Given the description of an element on the screen output the (x, y) to click on. 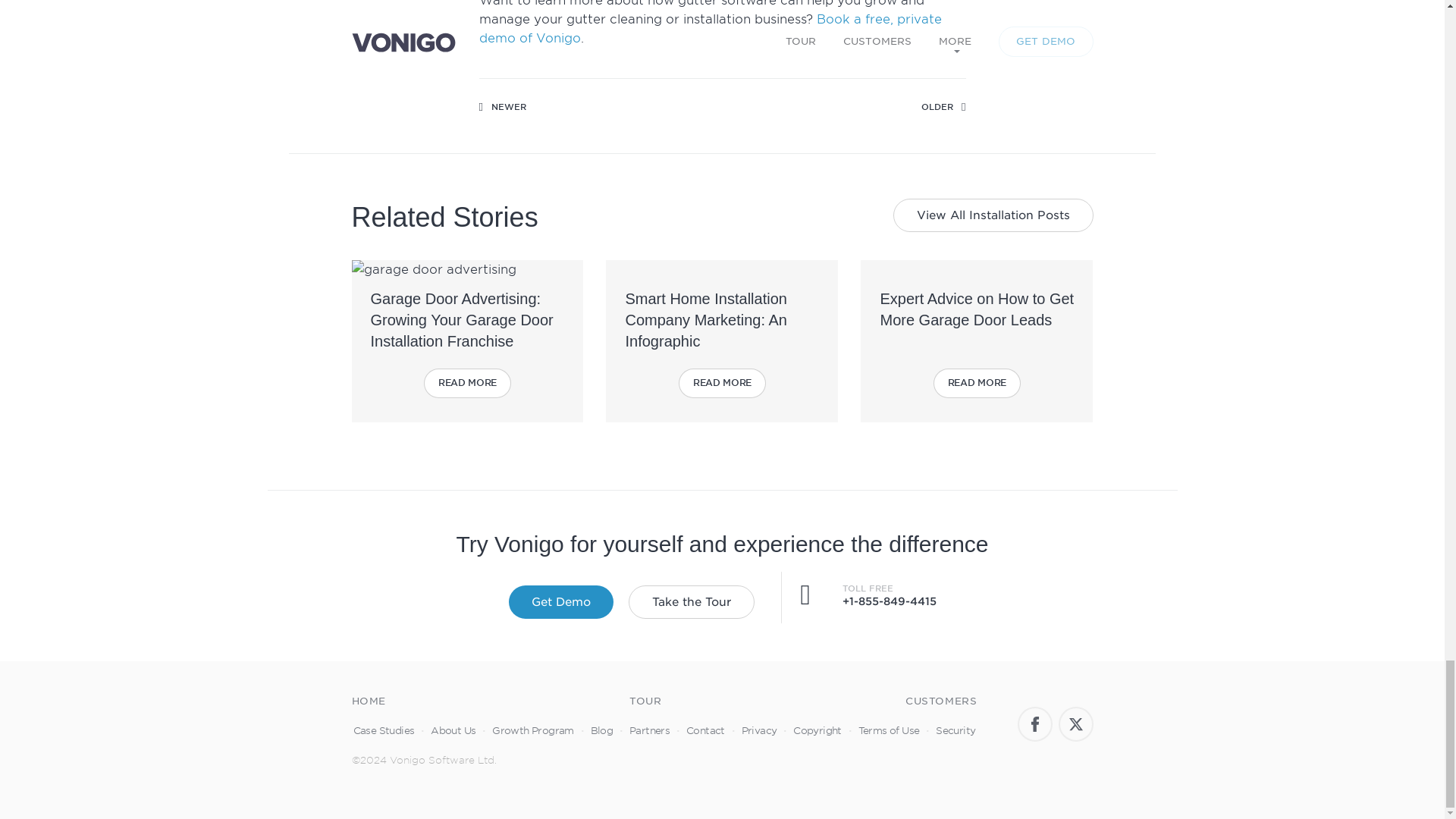
View All Installation Posts (993, 215)
Get Demo (560, 602)
READ MORE (467, 383)
Book a free, private demo of Vonigo (710, 28)
NEWER (502, 107)
Expert Advice on How to Get More Garage Door Leads (976, 309)
Take the Tour (690, 602)
READ MORE (976, 383)
Smart Home Installation Company Marketing: An Infographic (705, 319)
READ MORE (721, 383)
Smart Home Installation Company Marketing: An Infographic (705, 319)
Expert Advice on How to Get More Garage Door Leads (976, 309)
OLDER (943, 107)
